Given the description of an element on the screen output the (x, y) to click on. 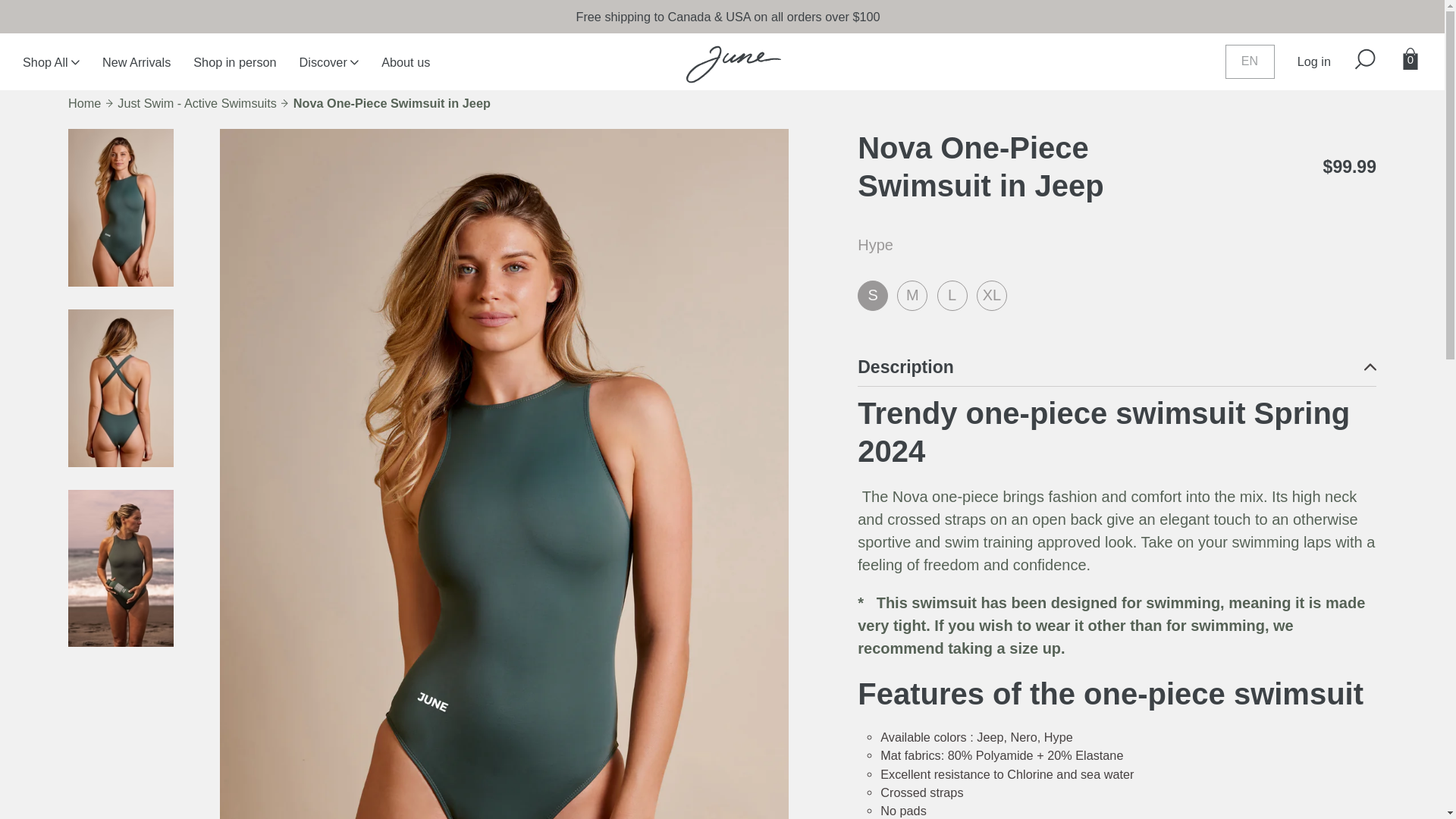
Shop in person (223, 73)
Shop All (40, 73)
Just Swim - Active Swimsuits (196, 102)
Home (84, 102)
0 (1398, 72)
Log in (1302, 72)
New Arrivals (125, 73)
About us (393, 73)
Discover (317, 73)
